Given the description of an element on the screen output the (x, y) to click on. 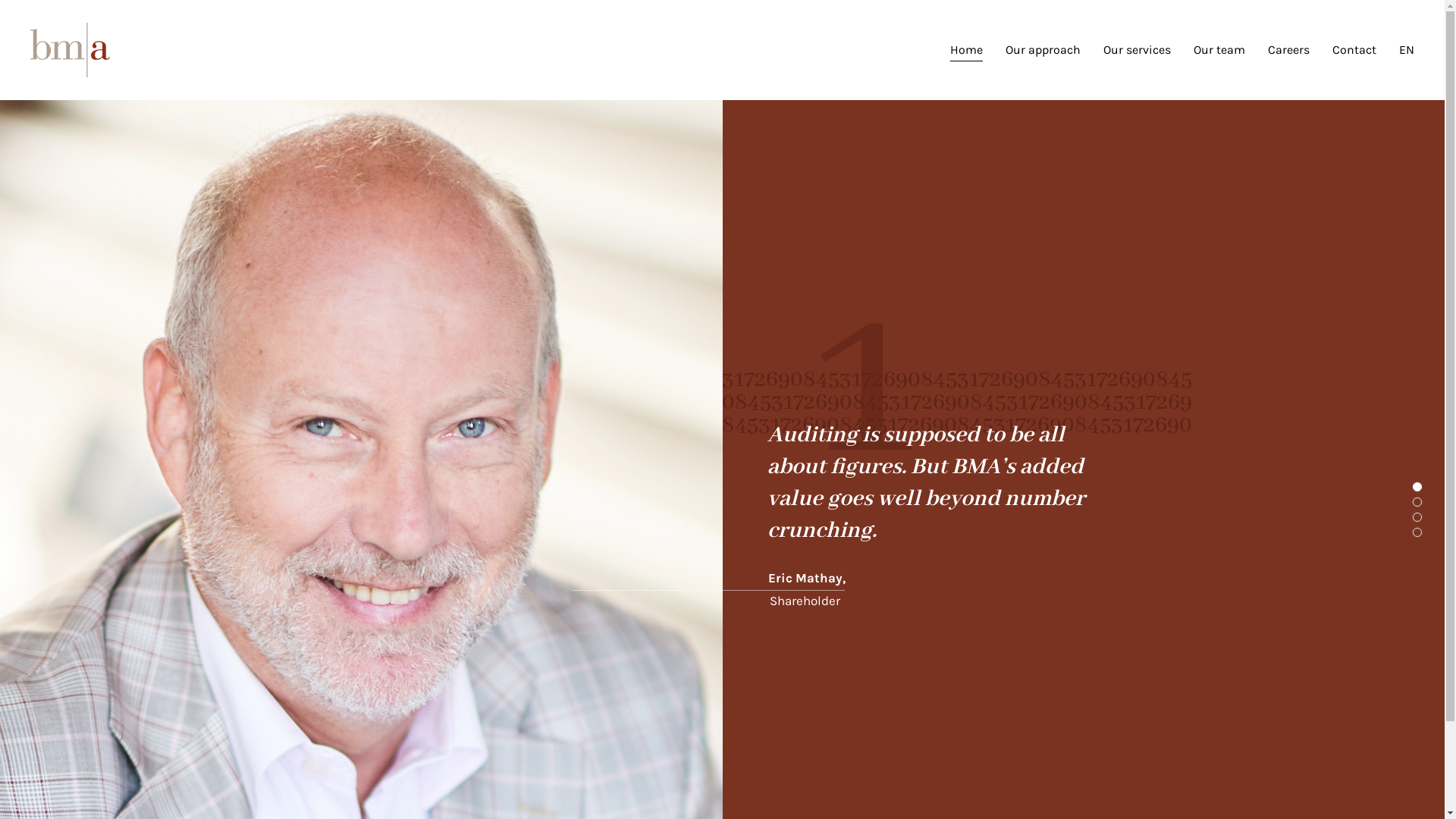
Our services Element type: text (1136, 49)
Contact Element type: text (1354, 49)
Our team Element type: text (1219, 49)
Home Element type: text (966, 50)
EN Element type: text (1406, 49)
Our approach Element type: text (1042, 49)
Careers Element type: text (1288, 49)
